Given the description of an element on the screen output the (x, y) to click on. 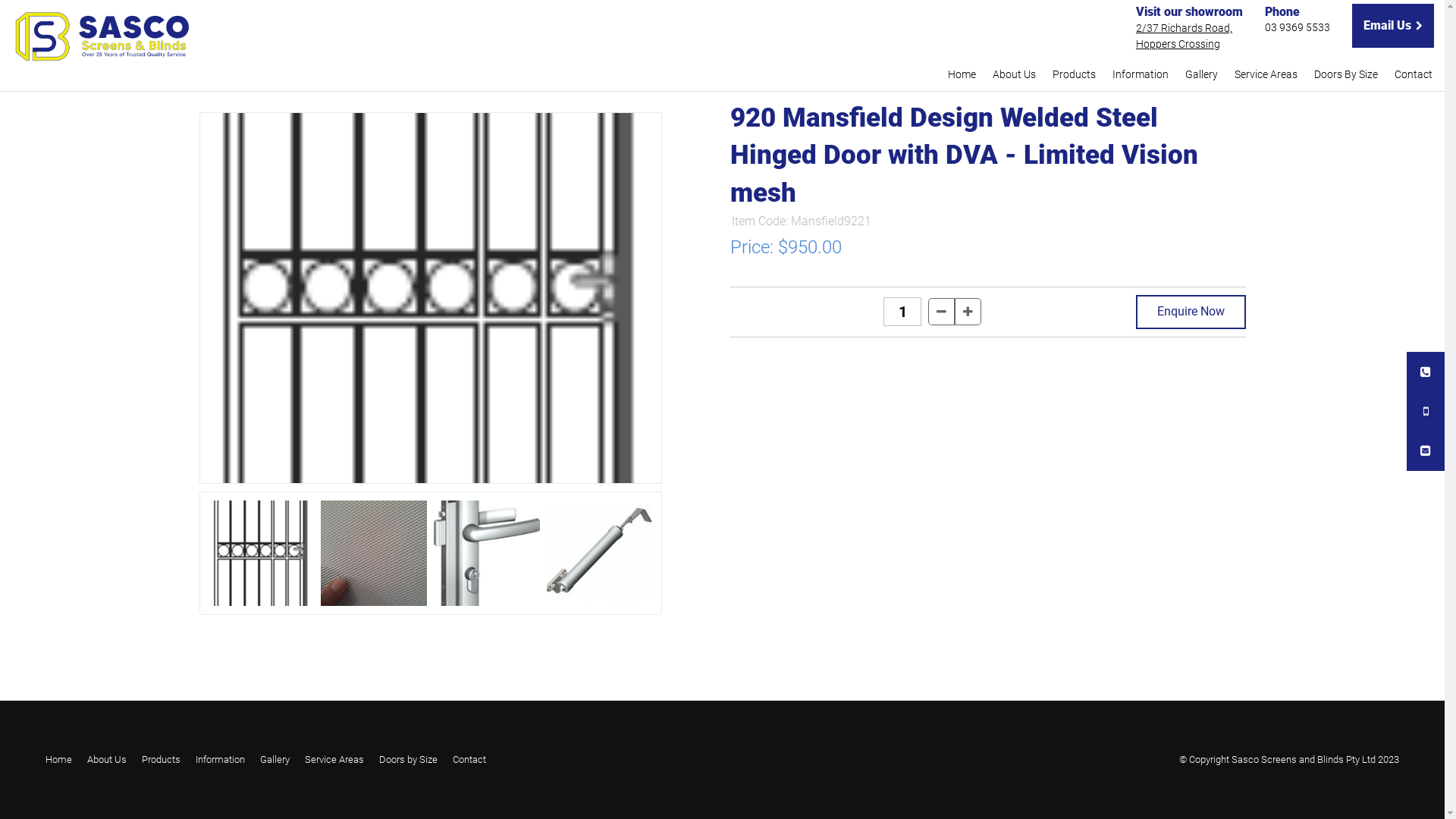
About Us Element type: text (1014, 74)
Products Element type: text (161, 759)
Contact Element type: text (469, 759)
Enquire Now Element type: text (1190, 311)
Email Us Element type: text (1393, 25)
Gallery Element type: text (1201, 74)
Gallery Element type: text (274, 759)
Service Areas Element type: text (334, 759)
Doors by Size Element type: text (408, 759)
Doors By Size Element type: text (1345, 74)
Home Element type: text (961, 74)
Information Element type: text (220, 759)
Products Element type: text (1073, 74)
Information Element type: text (1140, 74)
Contact Element type: text (1413, 74)
2/37 Richards Road,
Hoppers Crossing Element type: text (1183, 35)
About Us Element type: text (106, 759)
Service Areas Element type: text (1265, 74)
Home Element type: text (58, 759)
